Given the description of an element on the screen output the (x, y) to click on. 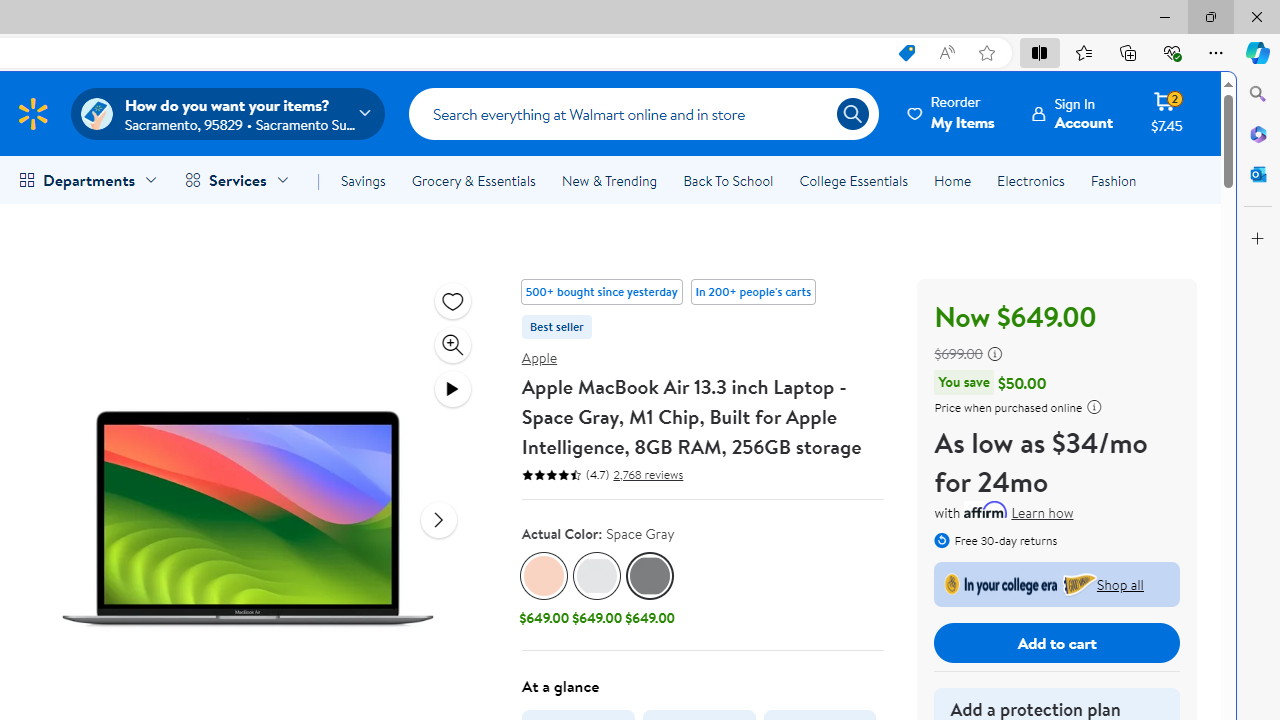
Back to College (1057, 584)
Grocery & Essentials (473, 180)
Savings (363, 180)
Fashion (1113, 180)
Customize (1258, 239)
Close Outlook pane (1258, 174)
Cart contains 2 items Total Amount $7.45 (1166, 113)
legal information (1094, 406)
Silver Silver, $649.00 (596, 591)
Sign InAccount (1072, 113)
New & Trending (608, 180)
